Given the description of an element on the screen output the (x, y) to click on. 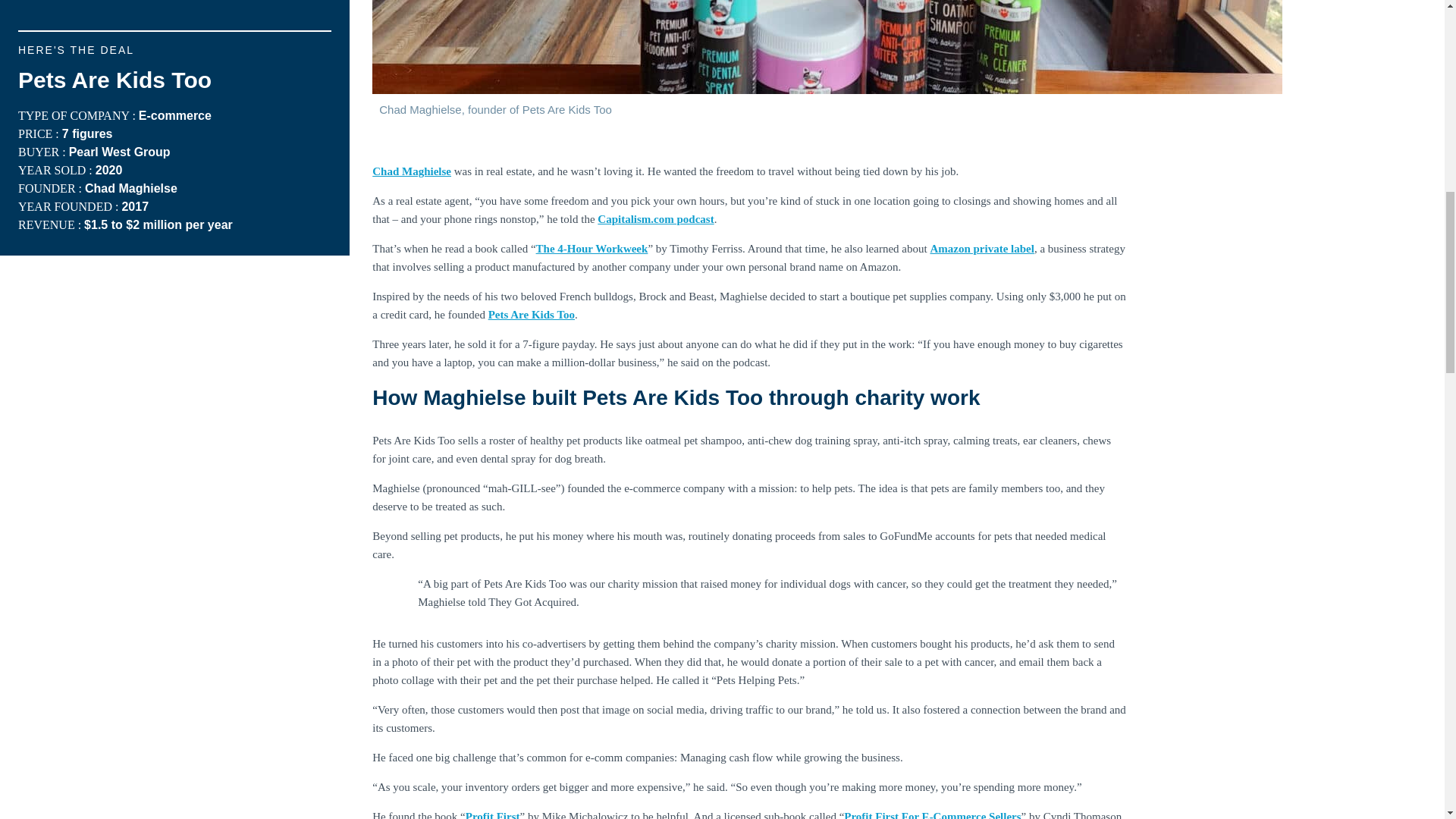
The 4-Hour Workweek (591, 248)
Pets Are Kids Too (531, 314)
Amazon private label (981, 248)
Profit First (492, 814)
Chad Maghielse (411, 171)
Capitalism.com podcast (654, 218)
Profit First For E-Commerce Sellers (932, 814)
